Given the description of an element on the screen output the (x, y) to click on. 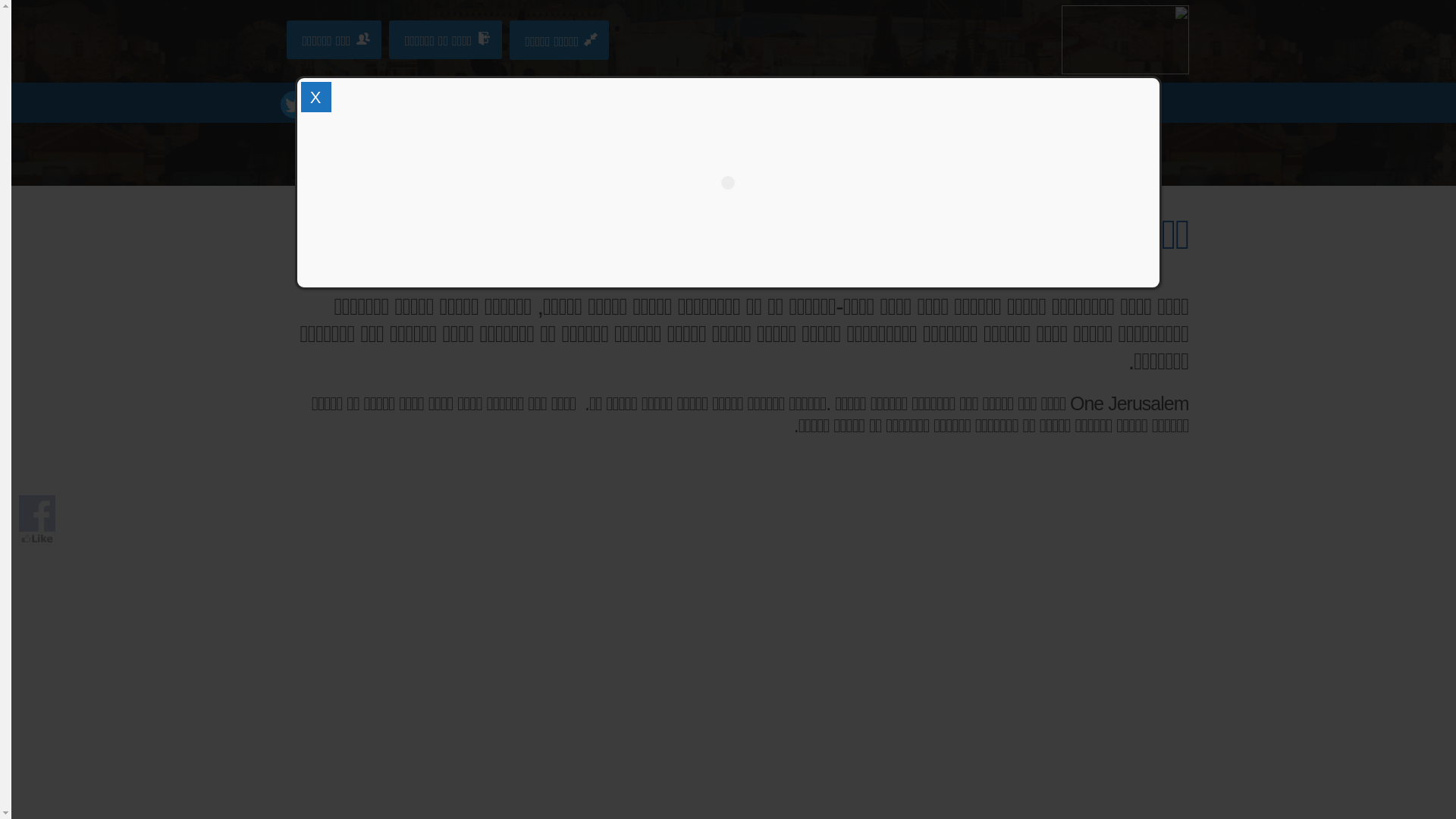
X Element type: text (315, 96)
twitter Element type: hover (293, 104)
Visit Our Facebook Page Element type: hover (36, 513)
facebook Element type: hover (324, 104)
facebook Element type: hover (324, 104)
twitter Element type: hover (294, 104)
